Given the description of an element on the screen output the (x, y) to click on. 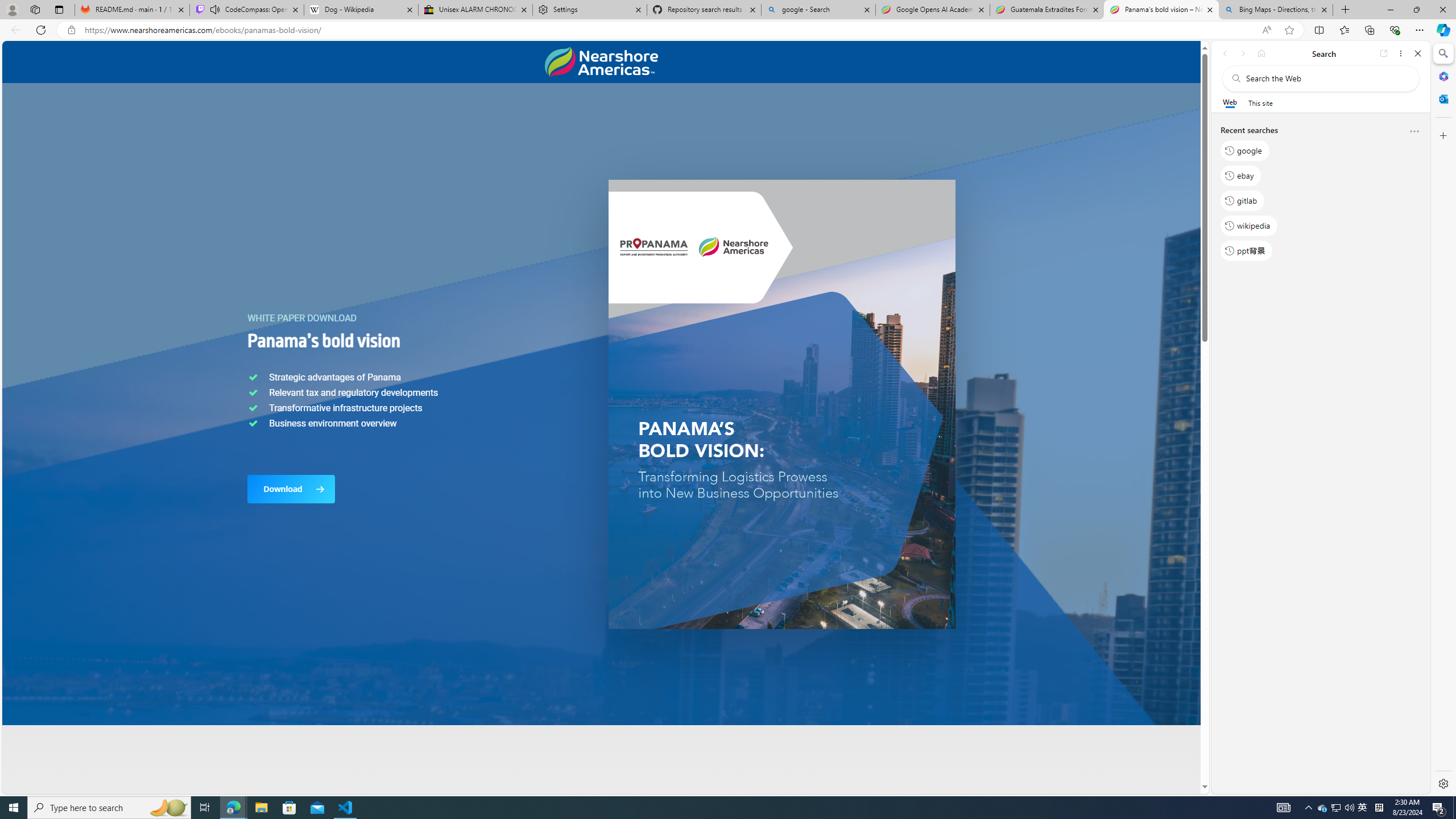
Tab actions menu (58, 9)
Workspaces (34, 9)
Settings (589, 9)
Side bar (1443, 418)
Read aloud this page (Ctrl+Shift+U) (1266, 29)
This site scope (1259, 102)
Split screen (1318, 29)
ebay (1240, 175)
Browser essentials (1394, 29)
Add this page to favorites (Ctrl+D) (1289, 29)
Minimize (1390, 9)
More options (1414, 132)
